Given the description of an element on the screen output the (x, y) to click on. 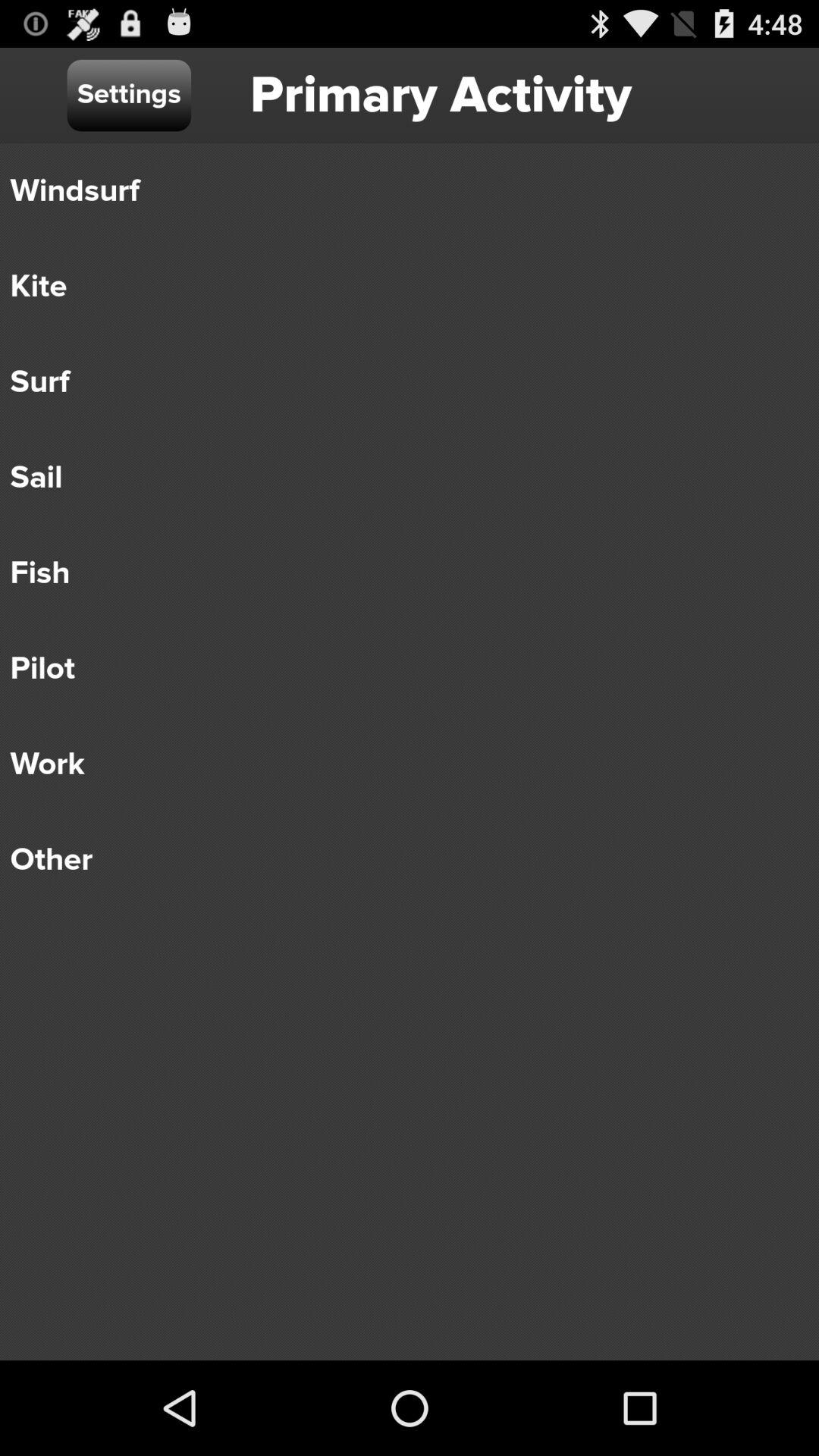
flip to windsurf icon (399, 190)
